Given the description of an element on the screen output the (x, y) to click on. 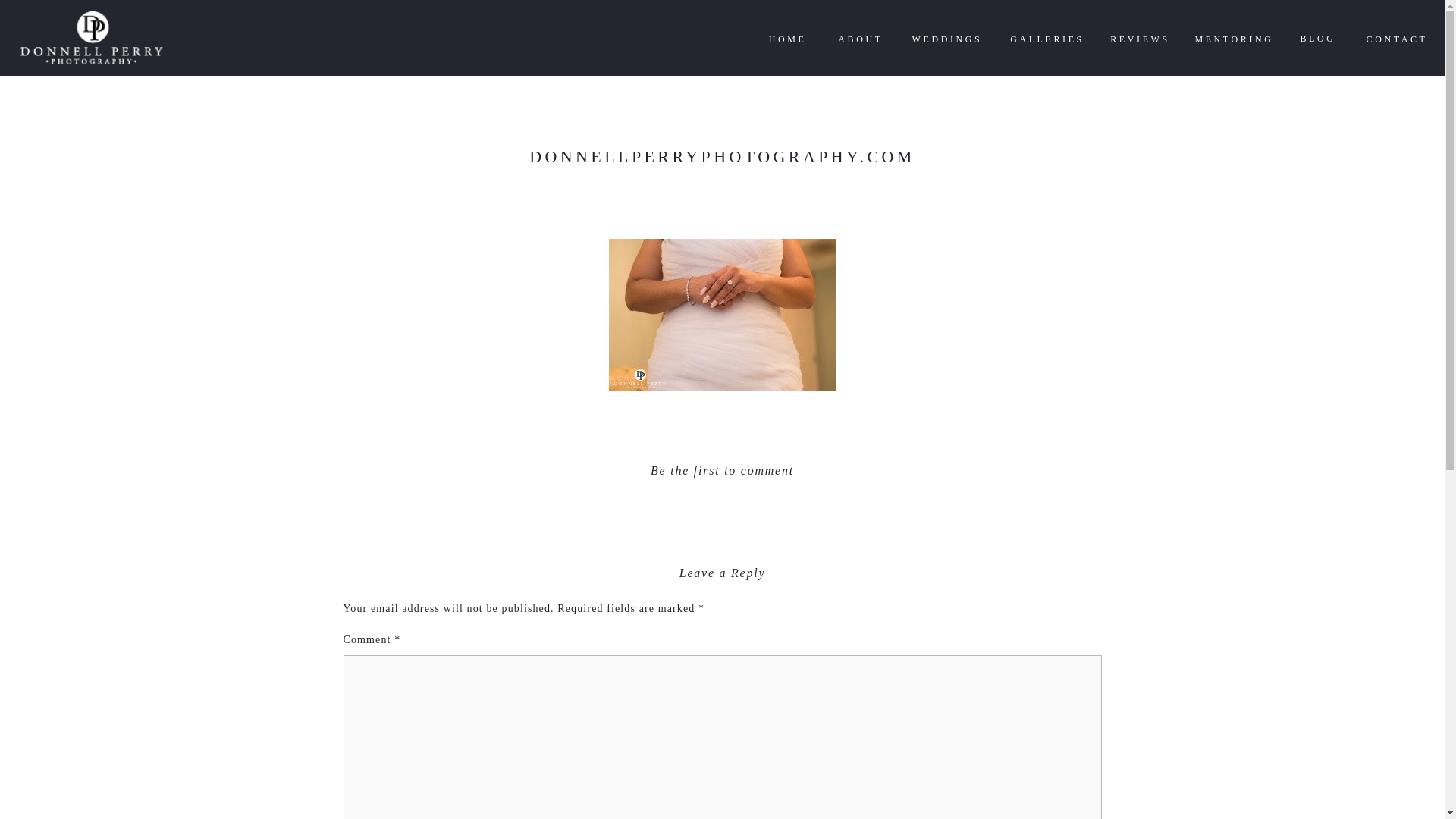
BLOG (1318, 38)
MENTORING (1233, 38)
REVIEWS (1139, 38)
Be the first to comment (721, 470)
ABOUT (860, 38)
HOME (787, 38)
CONTACT (1396, 38)
GALLERIES (1046, 38)
WEDDINGS (947, 38)
